Given the description of an element on the screen output the (x, y) to click on. 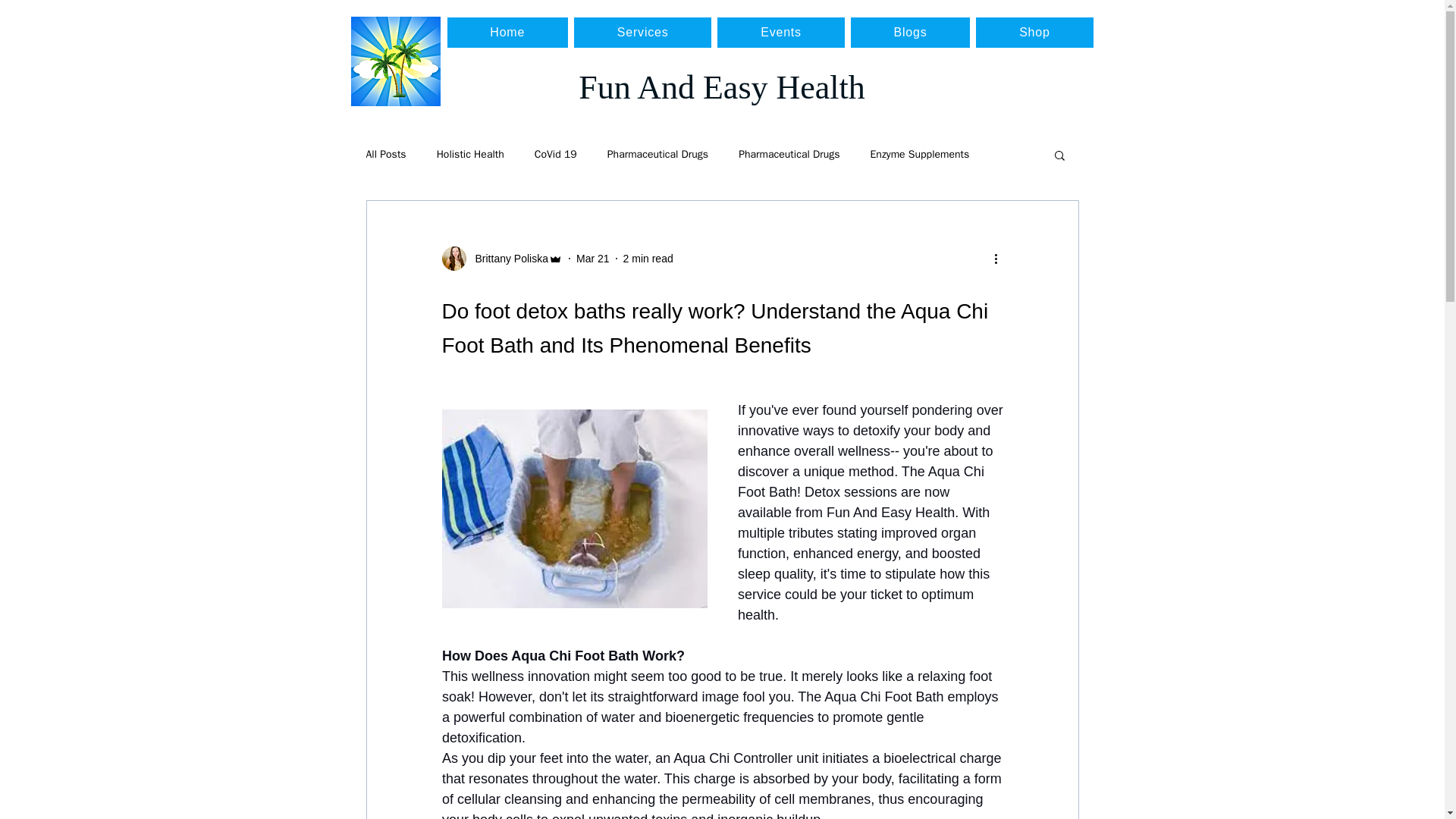
Holistic Health (469, 154)
All Posts (385, 154)
Pharmaceutical Drugs (657, 154)
Brittany Poliska (501, 258)
Pharmaceutical Drugs (789, 154)
Home (507, 32)
Blogs (910, 32)
Mar 21 (593, 258)
Services (642, 32)
Brittany Poliska (506, 258)
CoVid 19 (555, 154)
Events (780, 32)
2 min read (647, 258)
Shop (1034, 32)
Enzyme Supplements (919, 154)
